Given the description of an element on the screen output the (x, y) to click on. 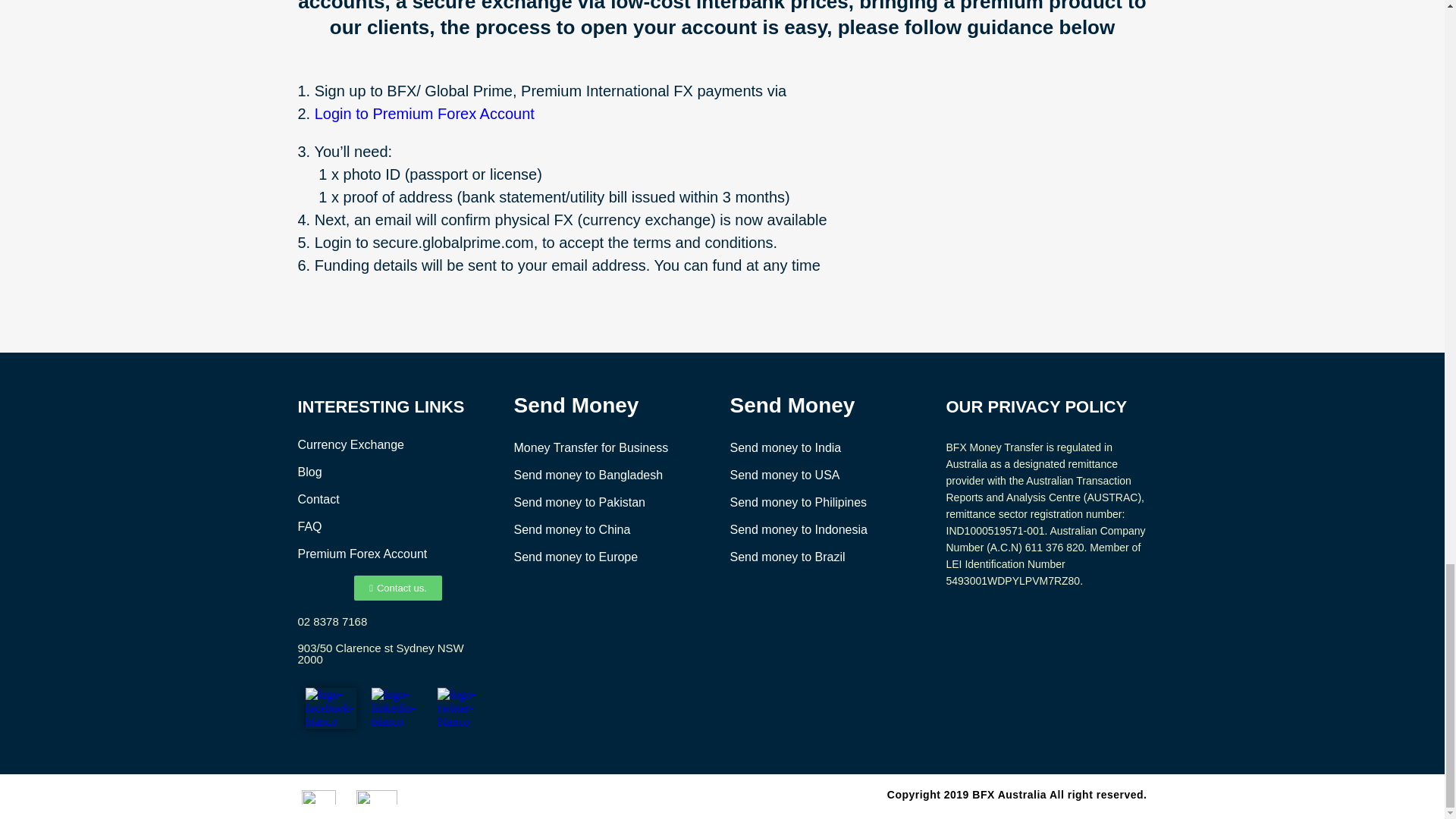
Send money to Pakistan (579, 502)
Login to Premium Forex Account (424, 113)
Money Transfer for Business (590, 447)
Currency Exchange (350, 444)
Send money to Indonesia (797, 529)
Send money to India (785, 447)
Send money to USA (784, 474)
logo-twitter-blanco (463, 707)
Contact (318, 499)
logo-facebook-blanco (329, 707)
